Given the description of an element on the screen output the (x, y) to click on. 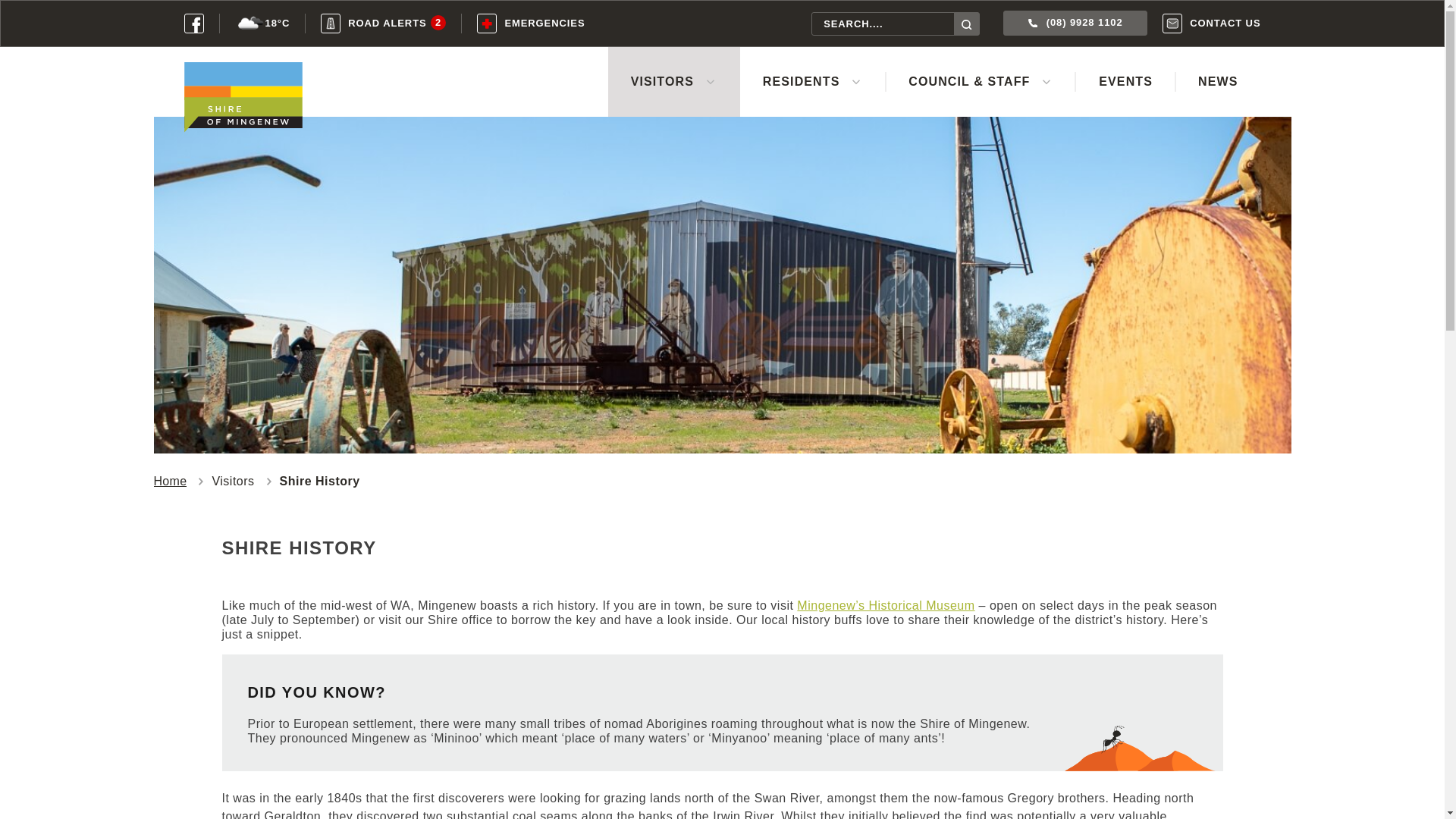
VISITORS (673, 81)
Search (966, 24)
RESIDENTS (382, 22)
EMERGENCIES (812, 81)
CONTACT US (530, 23)
search (1211, 22)
